Given the description of an element on the screen output the (x, y) to click on. 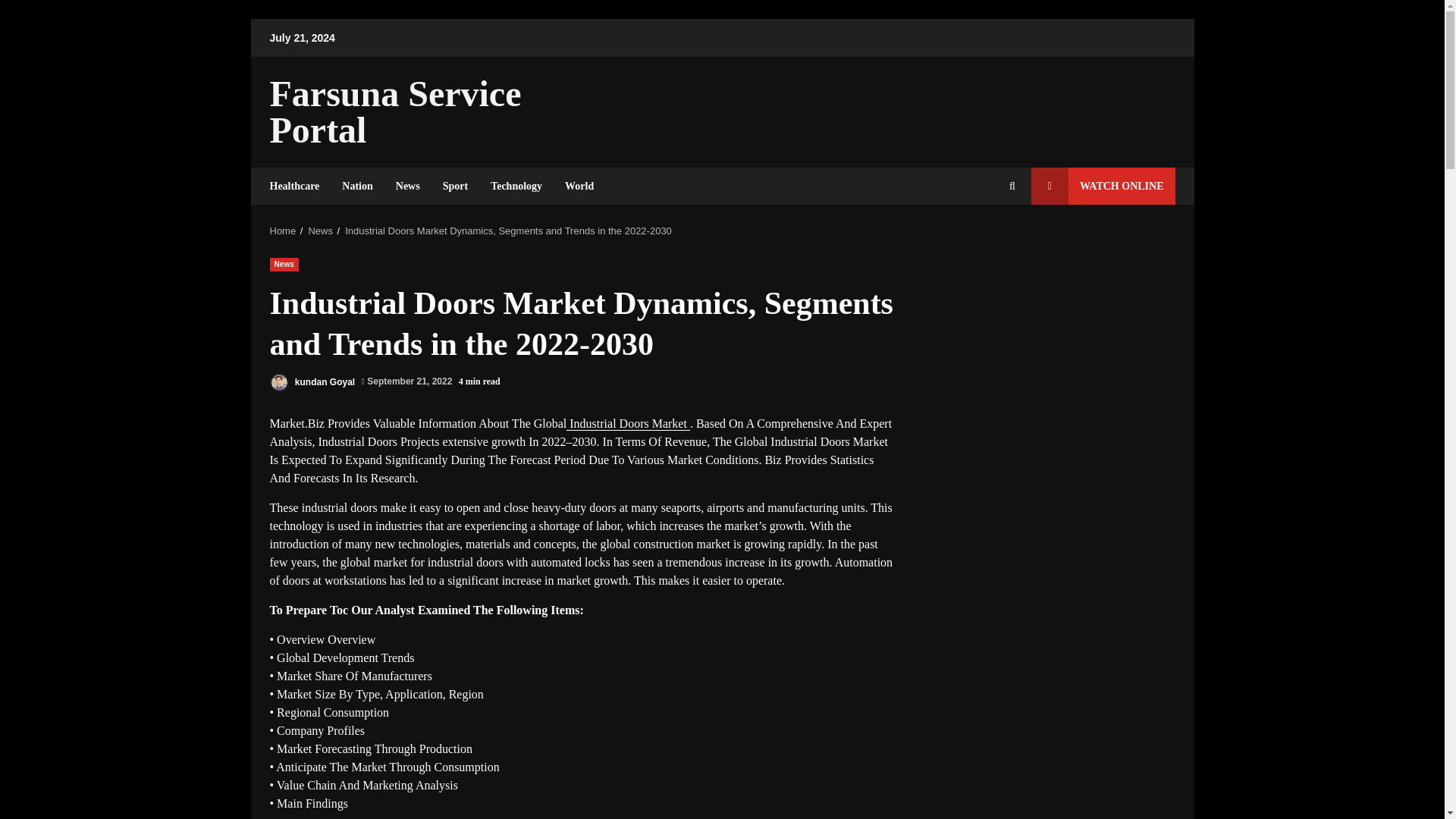
Healthcare (300, 185)
Sport (454, 185)
Technology (516, 185)
News (407, 185)
Farsuna Service Portal (395, 111)
Home (283, 230)
Industrial Doors Market (628, 423)
News (320, 230)
World (573, 185)
kundan Goyal (312, 382)
Nation (357, 185)
Search (984, 237)
WATCH ONLINE (1102, 185)
